Given the description of an element on the screen output the (x, y) to click on. 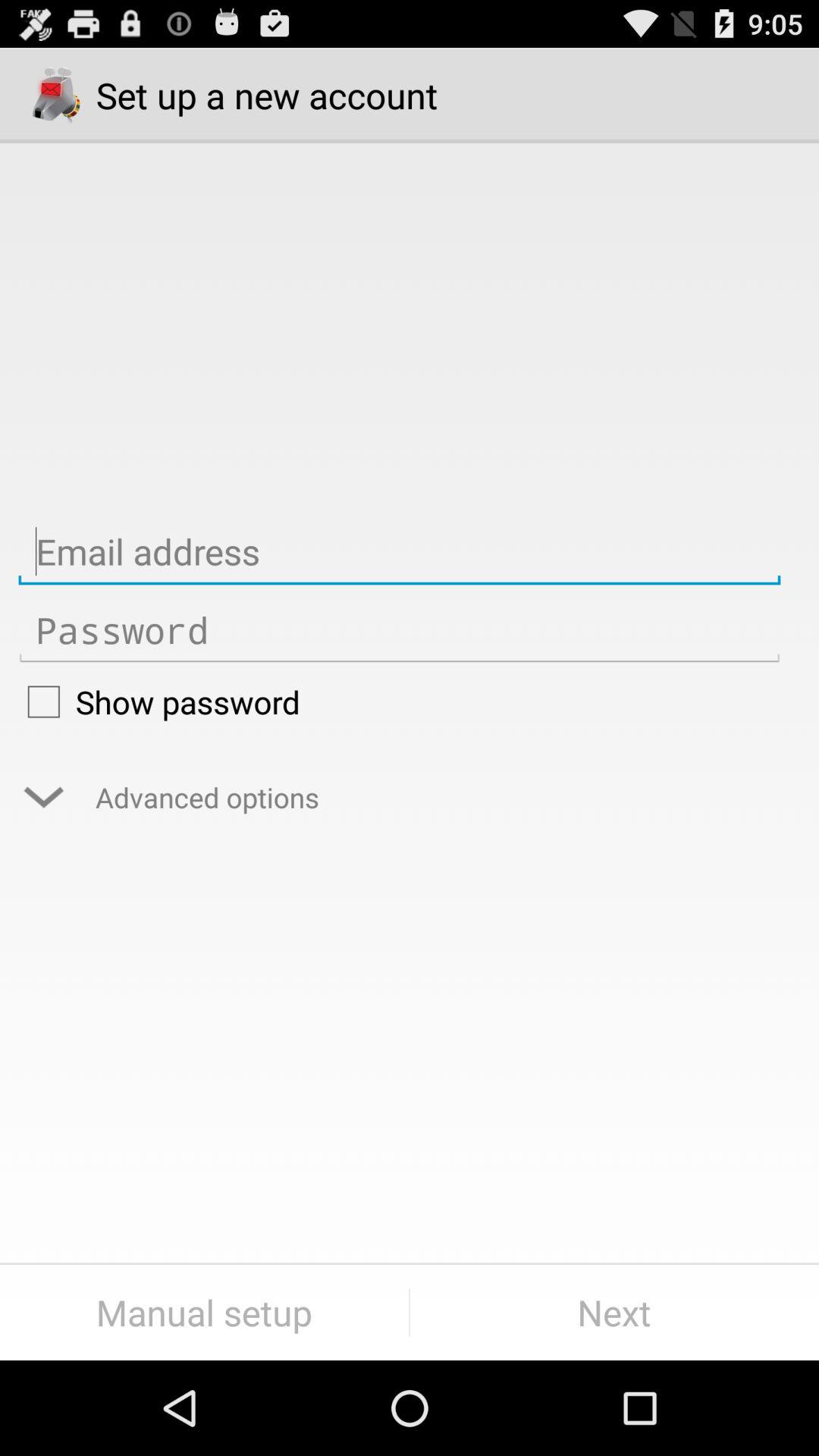
tap button to the left of next icon (204, 1312)
